Given the description of an element on the screen output the (x, y) to click on. 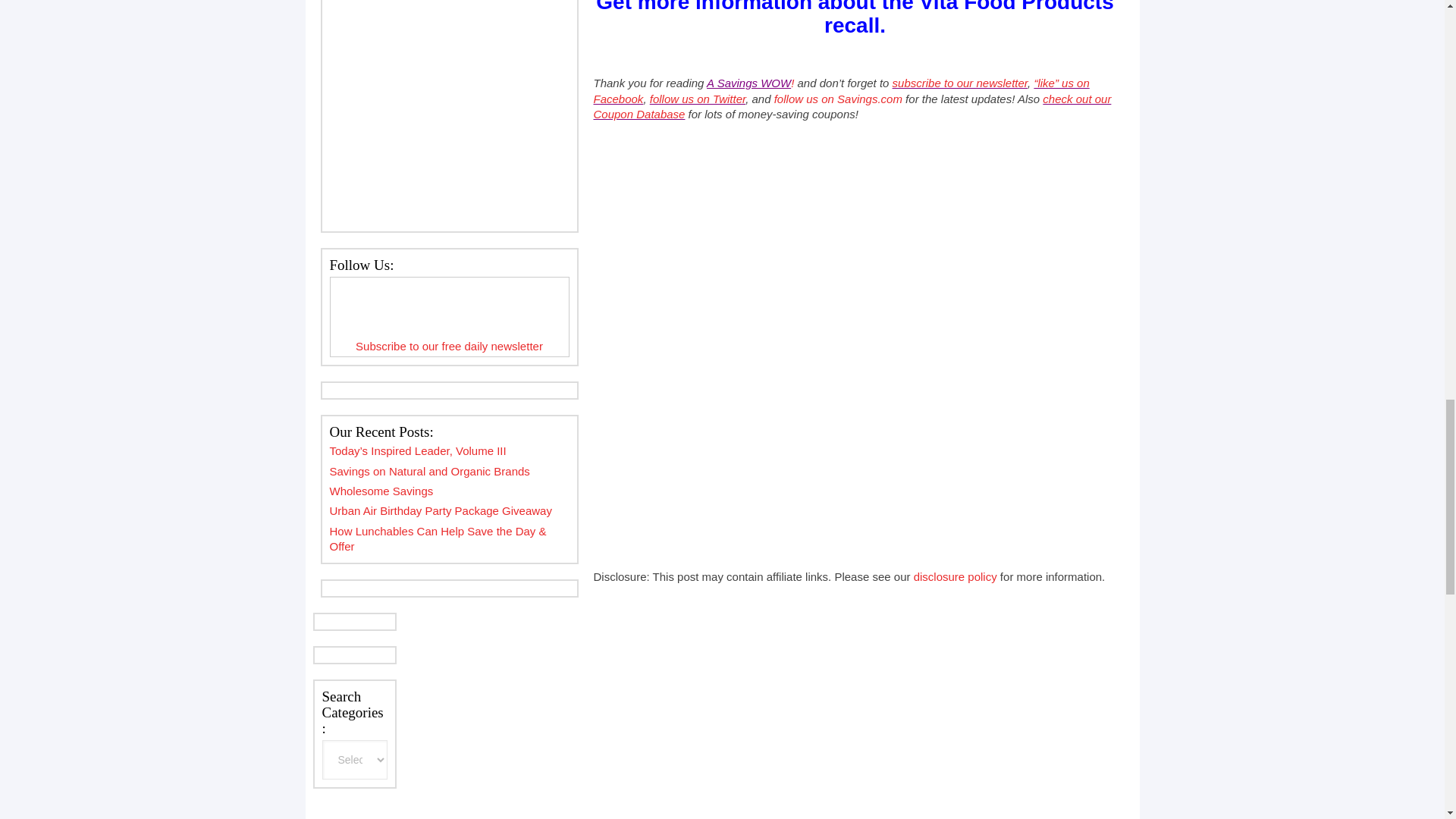
A Savings WOW! (749, 82)
A Savings WOW! Facebook Page (840, 90)
A Savings WOW! Savings.com Profile (838, 98)
A Savings WOW! Newsletter Subscription (959, 82)
Vita Foods (854, 18)
A Savings WOW! Twitter Page (697, 98)
Coupon Database (851, 106)
